Given the description of an element on the screen output the (x, y) to click on. 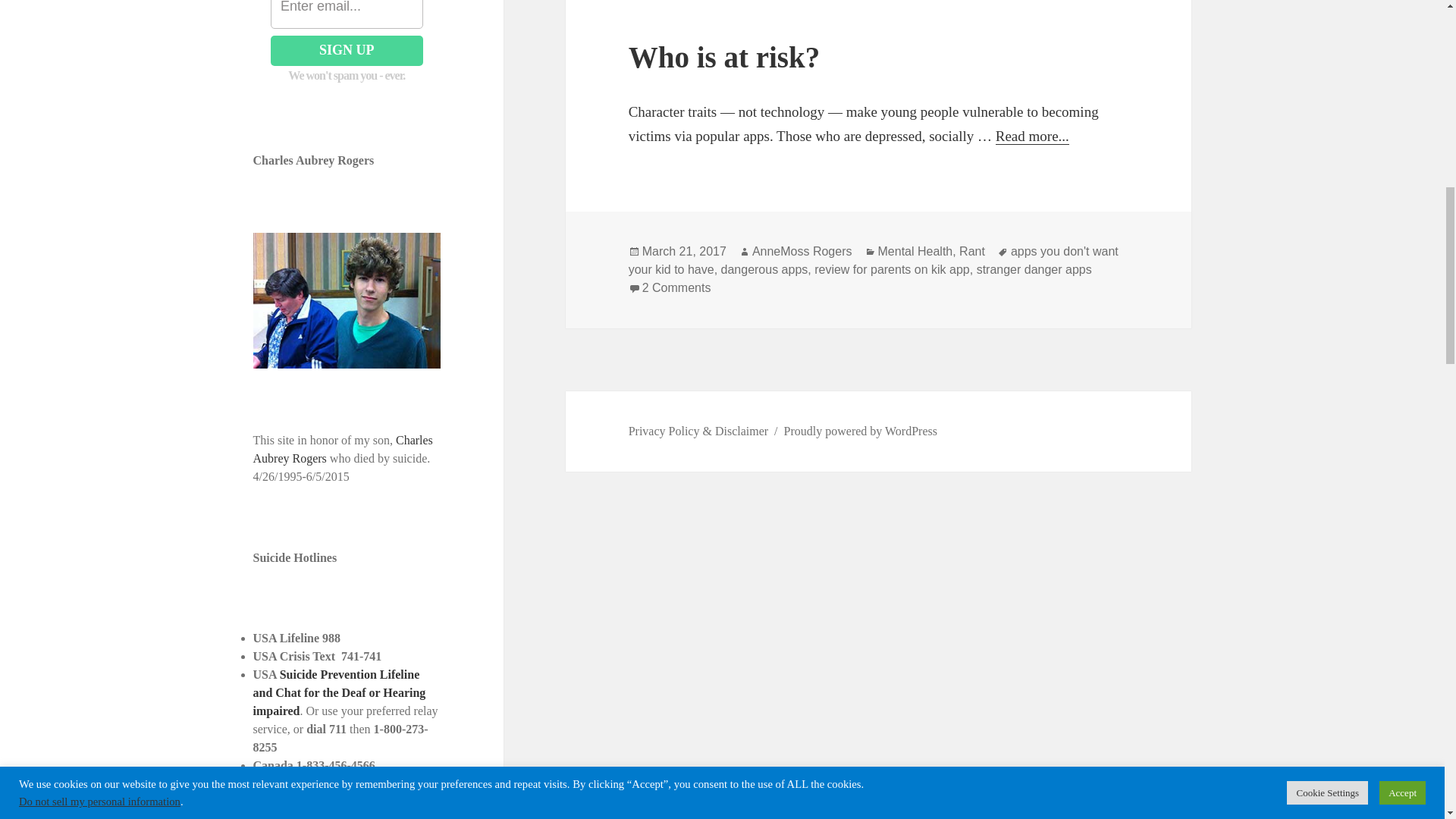
Sign Up (346, 51)
SIGN UP (346, 51)
International suicide hotlines (328, 816)
Charles Aubrey Rogers (342, 449)
